Given the description of an element on the screen output the (x, y) to click on. 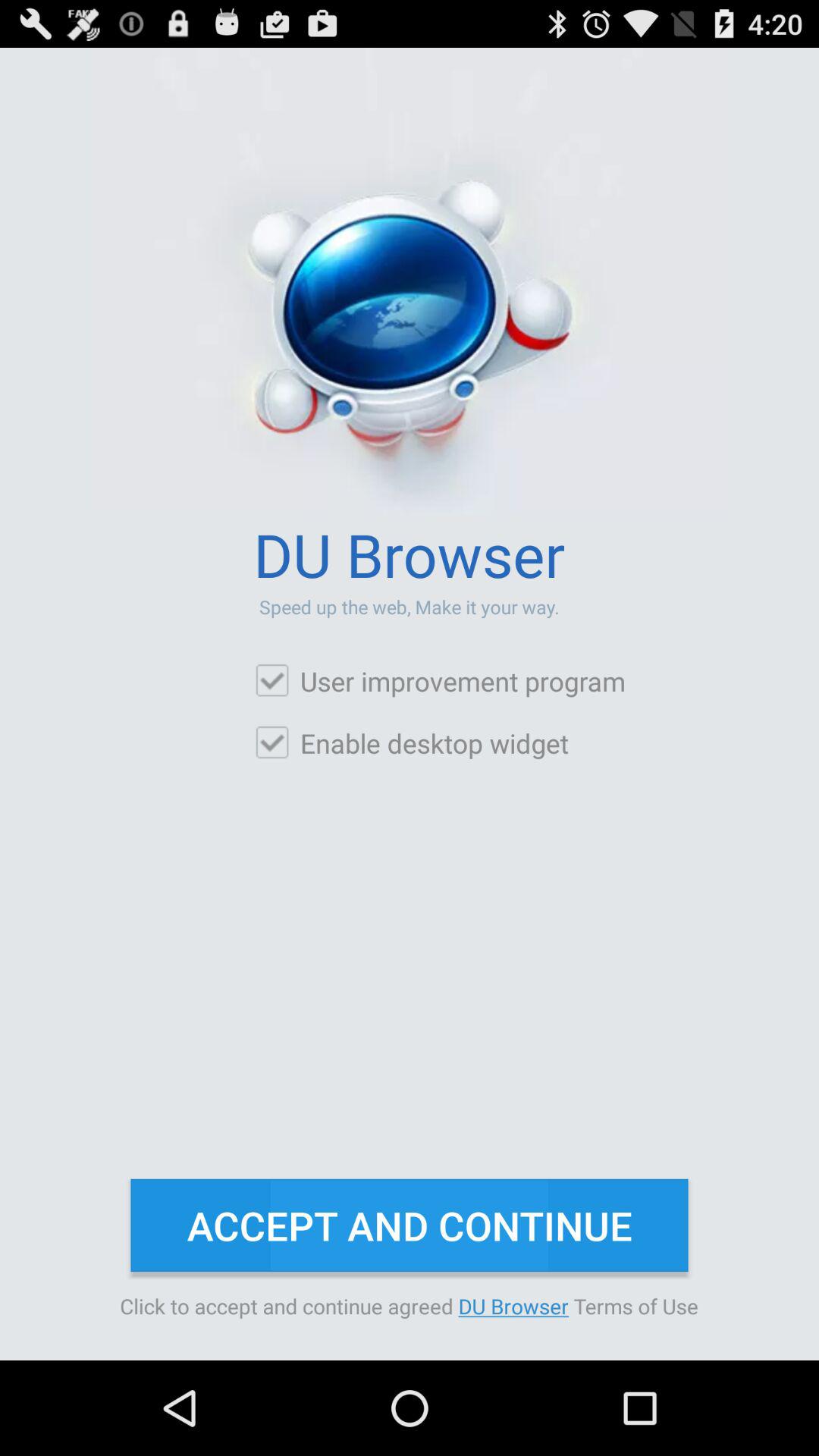
swipe to the enable desktop widget checkbox (410, 742)
